Given the description of an element on the screen output the (x, y) to click on. 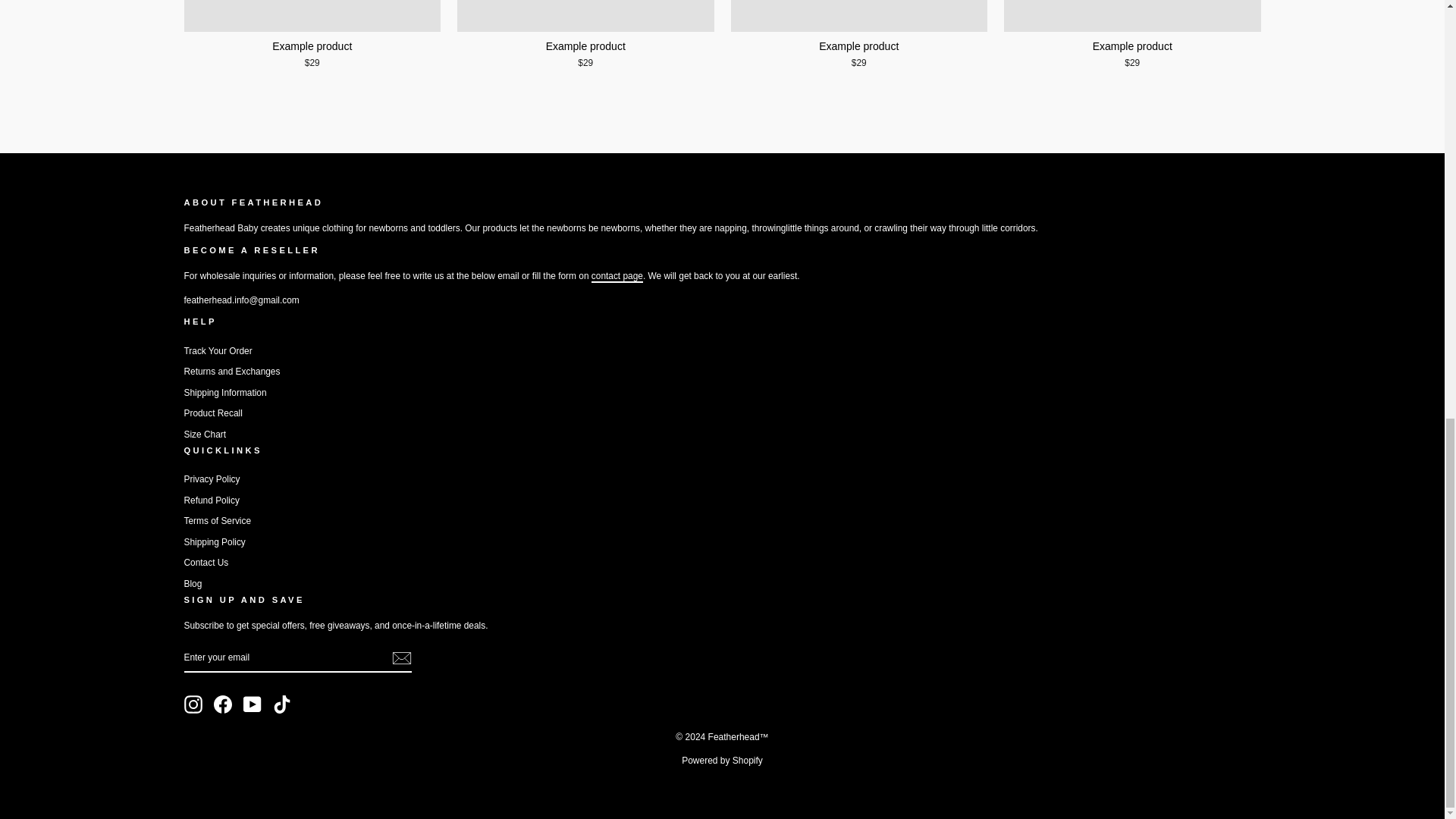
Contact Us (617, 276)
instagram (192, 704)
icon-email (400, 658)
